Given the description of an element on the screen output the (x, y) to click on. 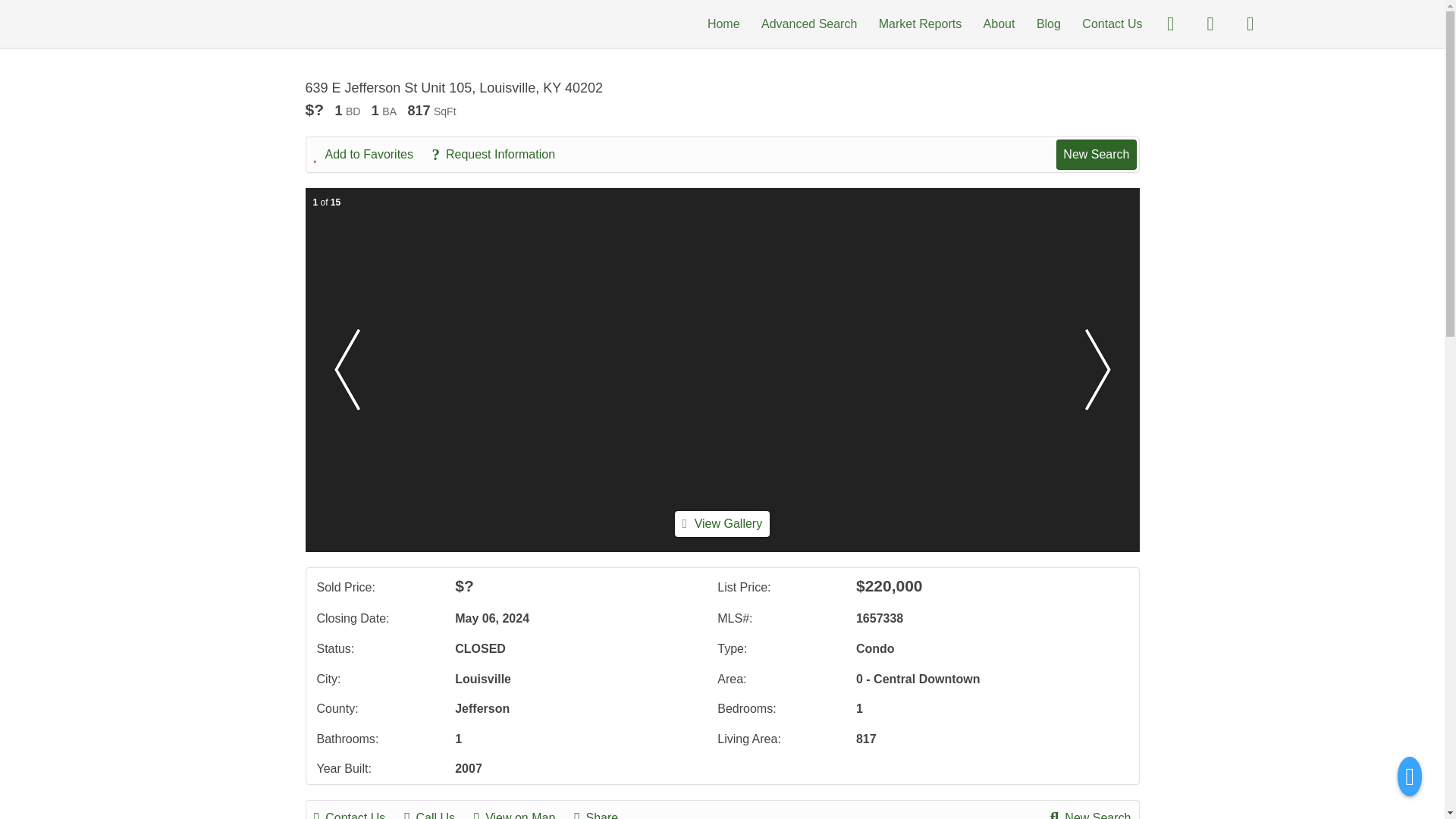
Market Reports (919, 23)
Add to Favorites (371, 154)
New Search (1096, 154)
View on Map (521, 812)
Blog (1048, 23)
Call Us (437, 812)
Request Information (500, 154)
Home (723, 23)
Contact Us (357, 812)
Contact Us (1111, 23)
